Given the description of an element on the screen output the (x, y) to click on. 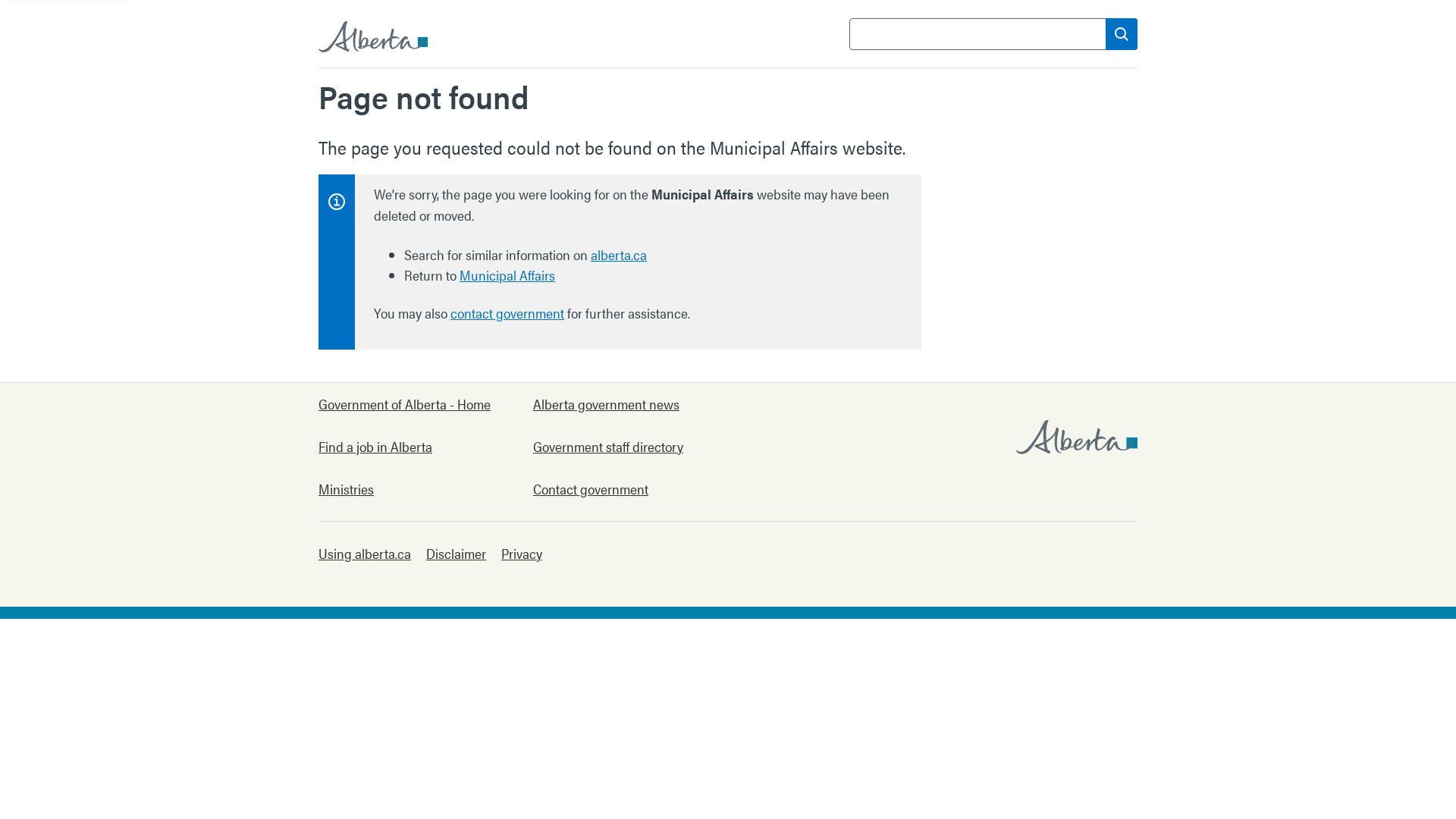
Privacy Element type: text (521, 553)
Contact government Element type: text (619, 488)
Disclaimer Element type: text (456, 553)
Ministries Element type: text (404, 488)
Using alberta.ca Element type: text (364, 553)
Government of Alberta - Home Element type: text (404, 403)
Government staff directory Element type: text (619, 445)
Alberta government news Element type: text (619, 403)
Municipal Affairs Element type: text (507, 272)
Find a job in Alberta Element type: text (404, 445)
alberta.ca Element type: text (618, 251)
contact government Element type: text (507, 310)
